Given the description of an element on the screen output the (x, y) to click on. 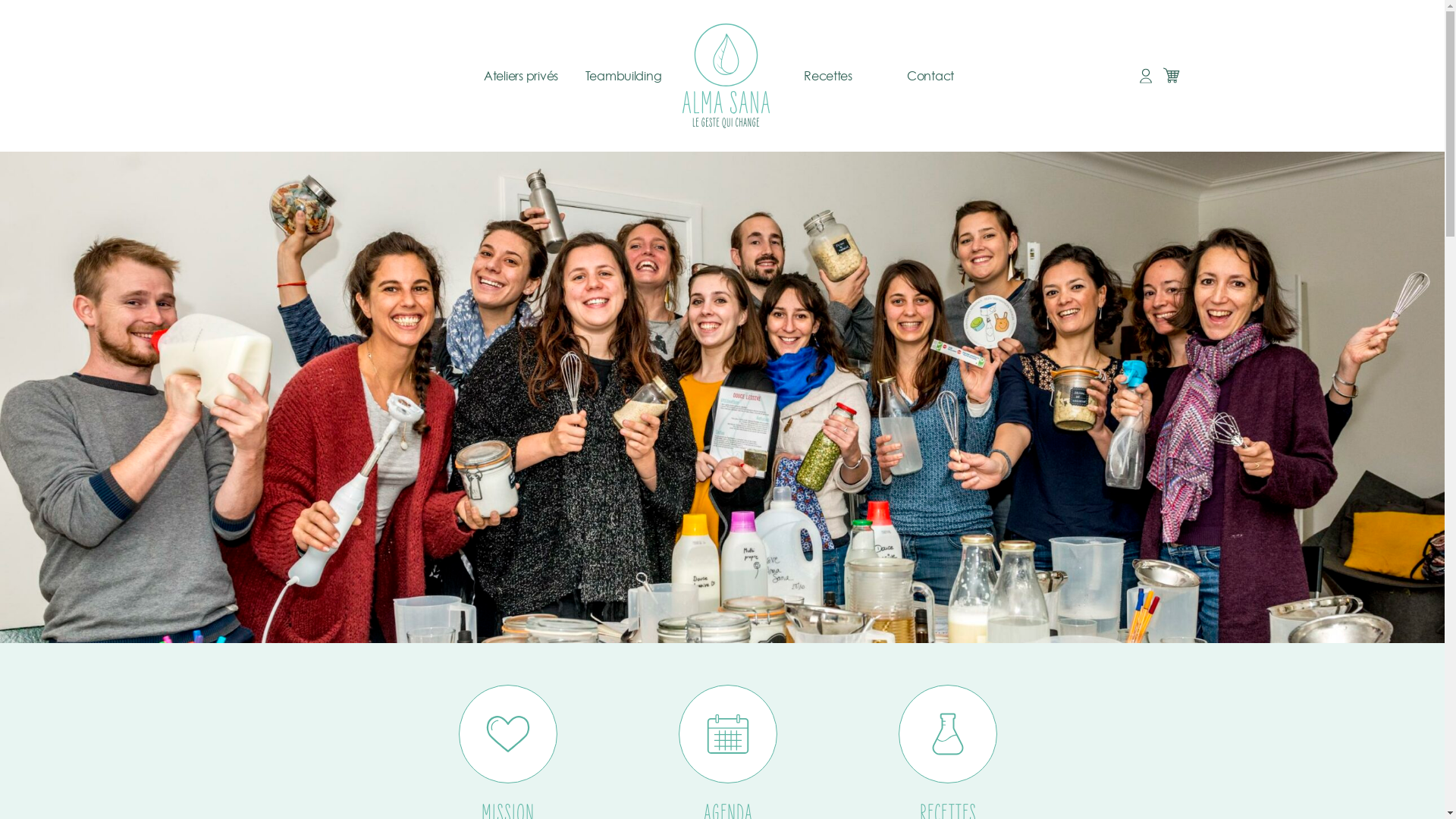
Recettes Element type: text (827, 75)
Teambuilding Element type: text (623, 75)
Contact Element type: text (929, 75)
